Given the description of an element on the screen output the (x, y) to click on. 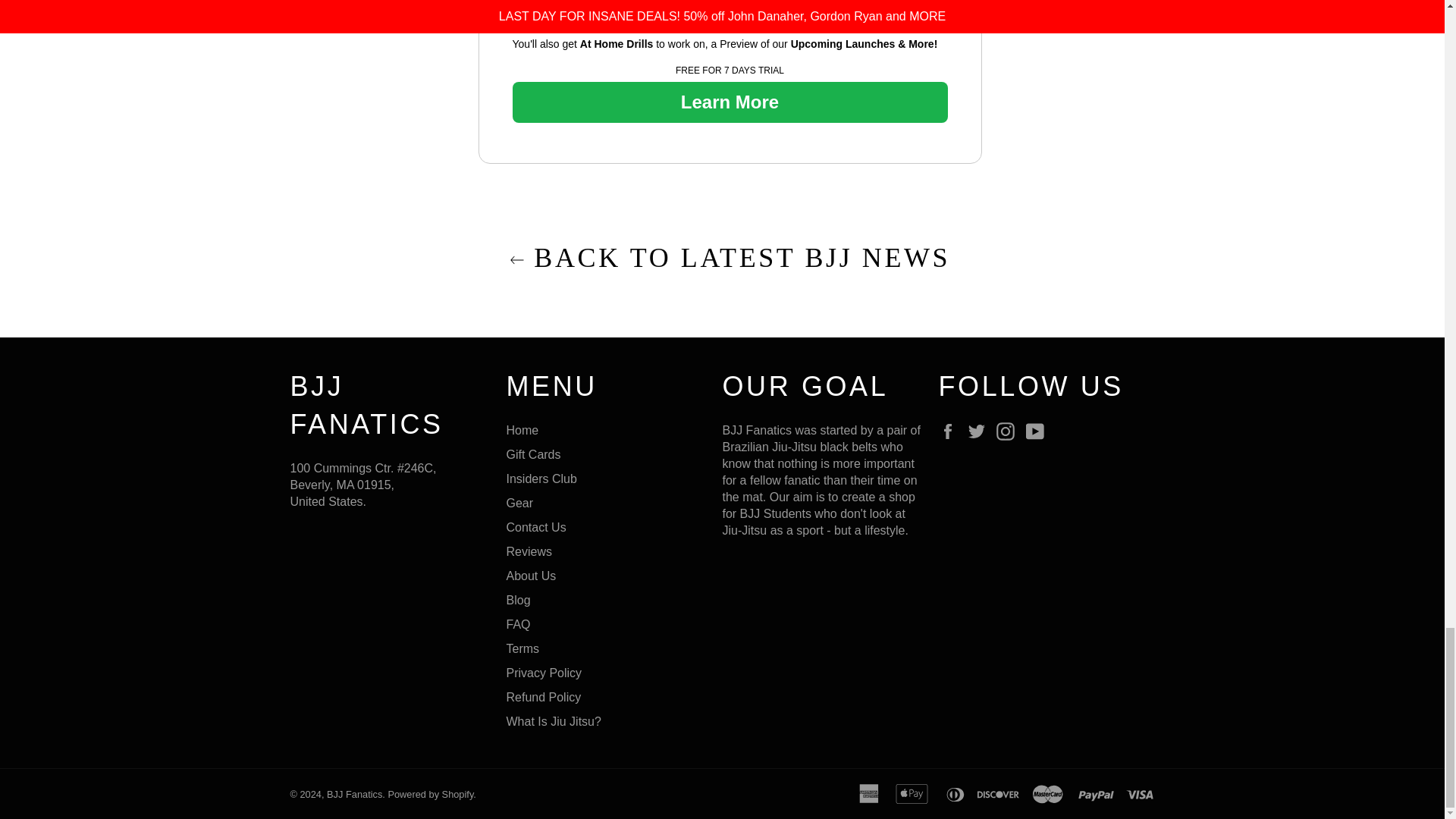
BJJ Fanatics on Twitter (980, 431)
BJJ Fanatics on Facebook (951, 431)
BJJ Fanatics on YouTube (1038, 431)
BJJ Fanatics on Instagram (1008, 431)
